Given the description of an element on the screen output the (x, y) to click on. 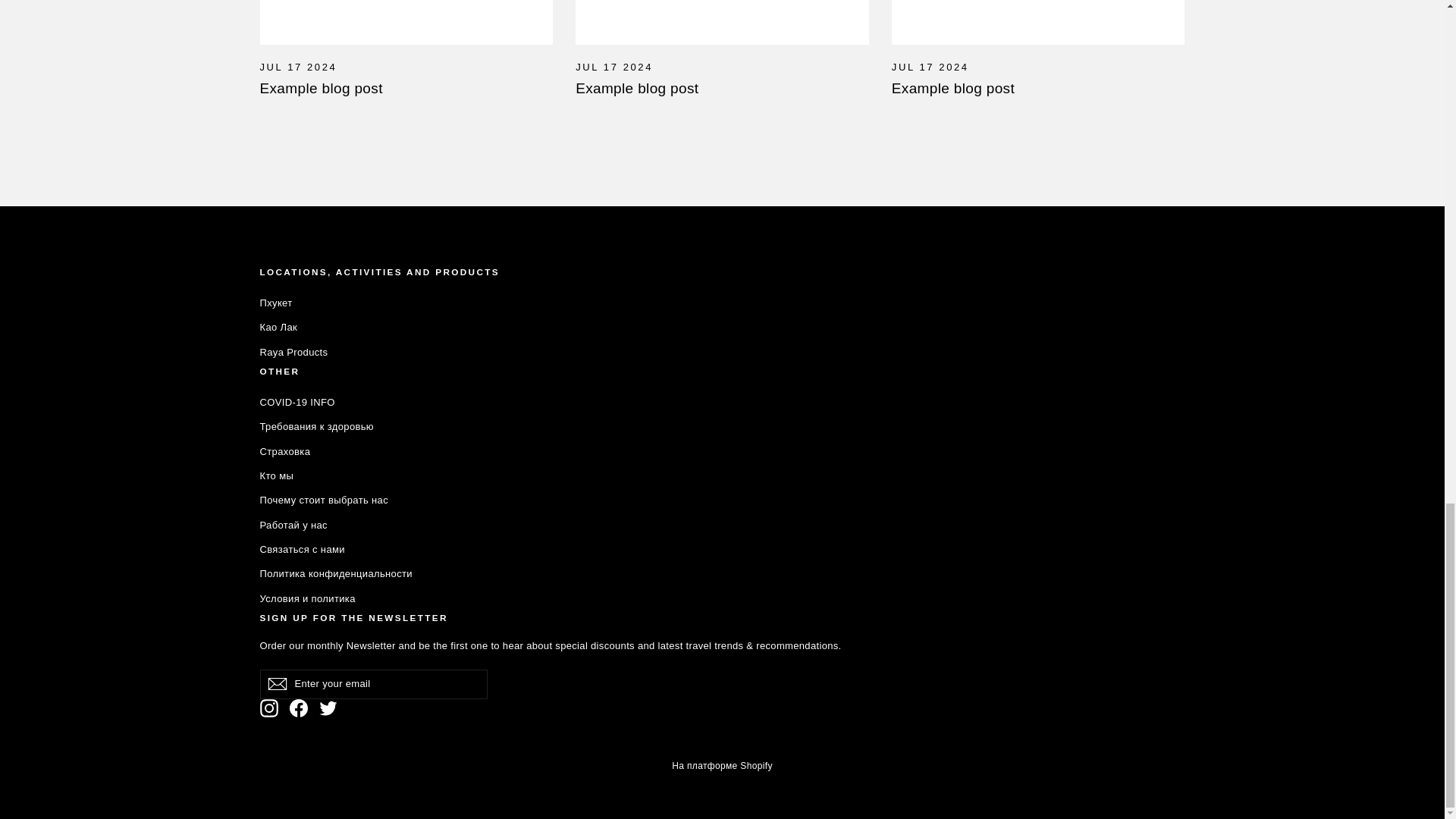
Raya Divers on Twitter (327, 708)
Raya Divers on Facebook (298, 708)
Raya Divers on Instagram (268, 708)
